Given the description of an element on the screen output the (x, y) to click on. 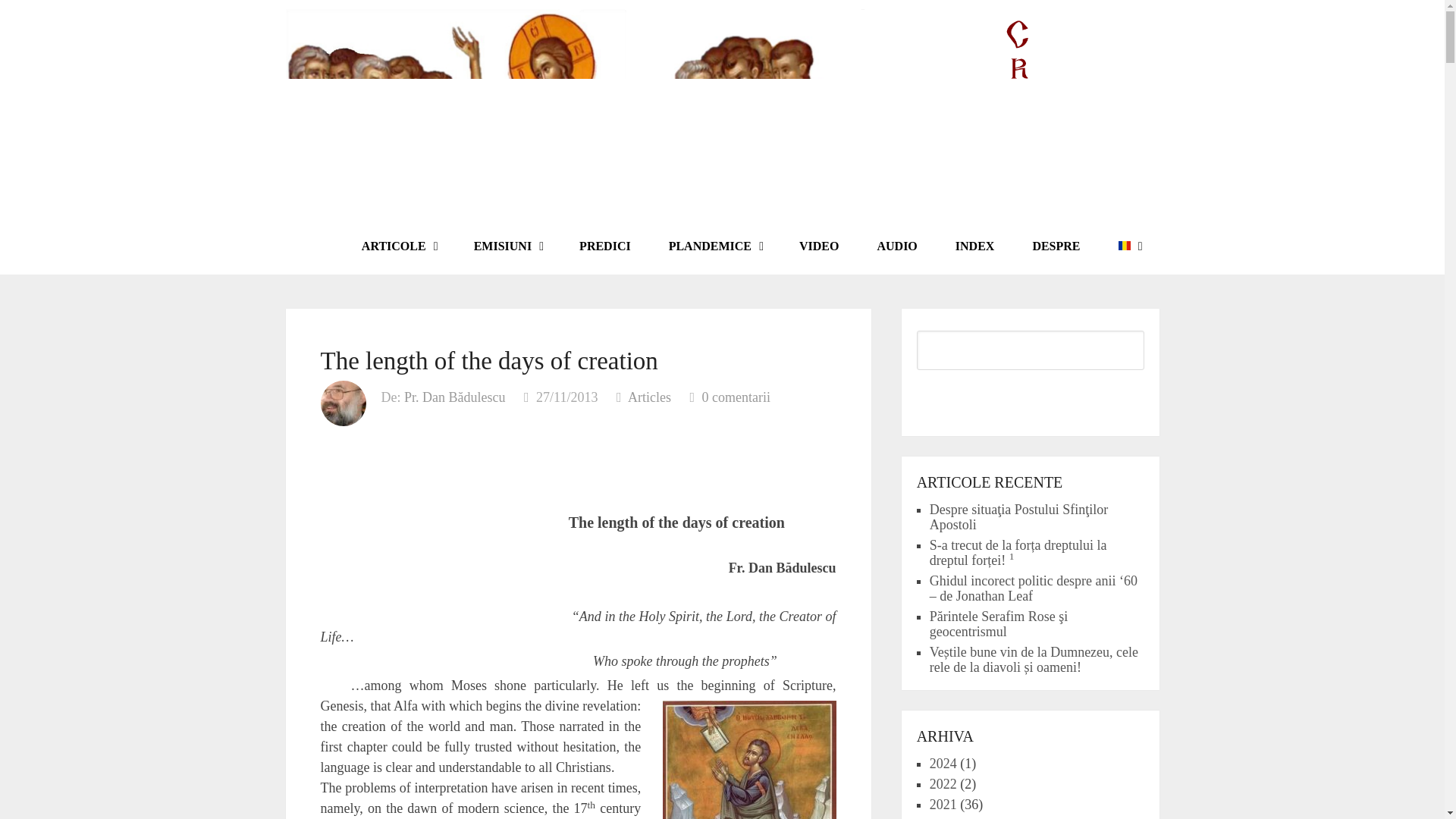
ARTICOLE (398, 246)
Cautare (1030, 395)
VIDEO (818, 246)
INDEX (974, 246)
Articles (649, 396)
PREDICI (604, 246)
EMISIUNI (507, 246)
0 comentarii (735, 396)
AUDIO (896, 246)
